Given the description of an element on the screen output the (x, y) to click on. 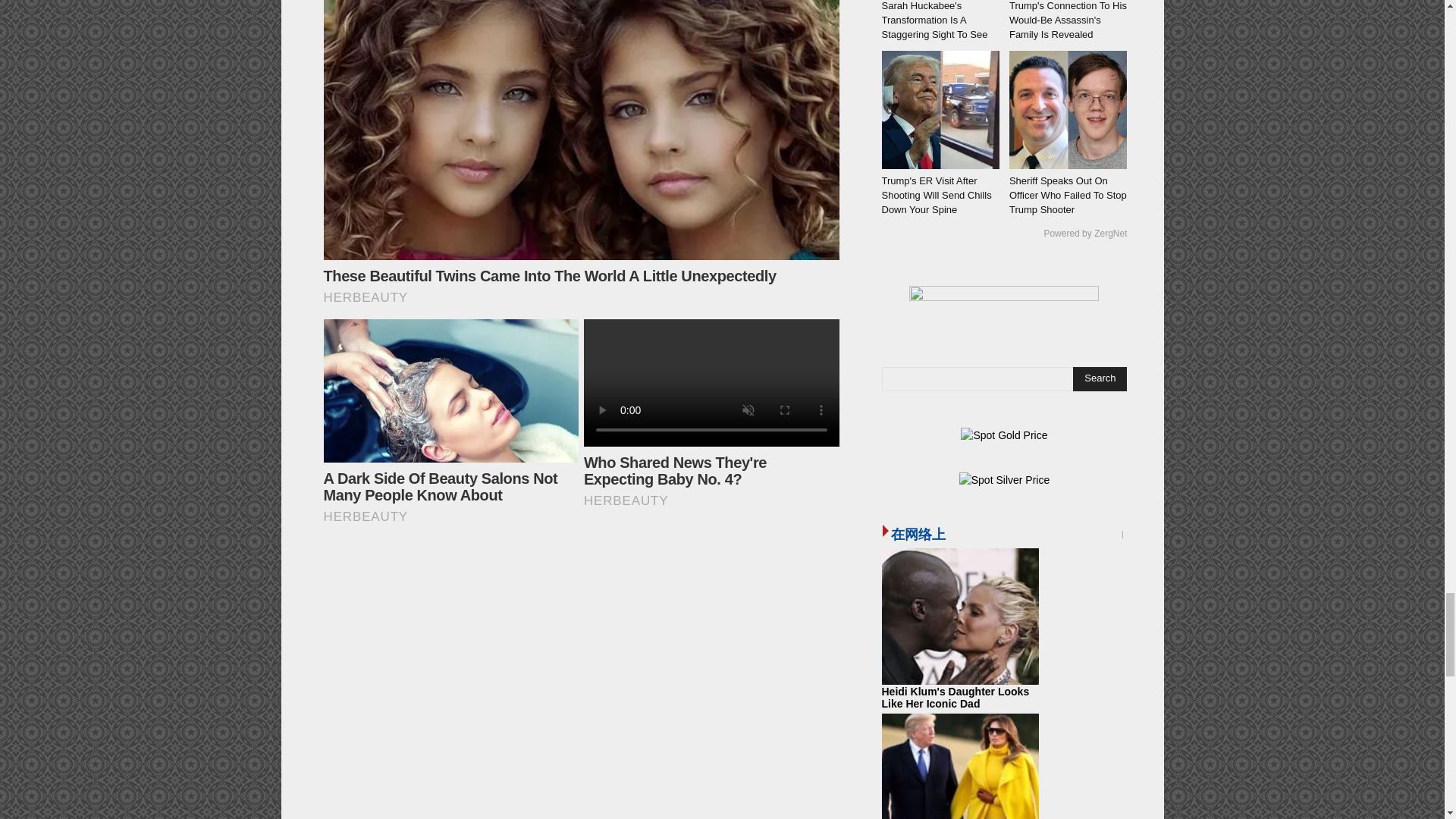
Search (1099, 378)
